Given the description of an element on the screen output the (x, y) to click on. 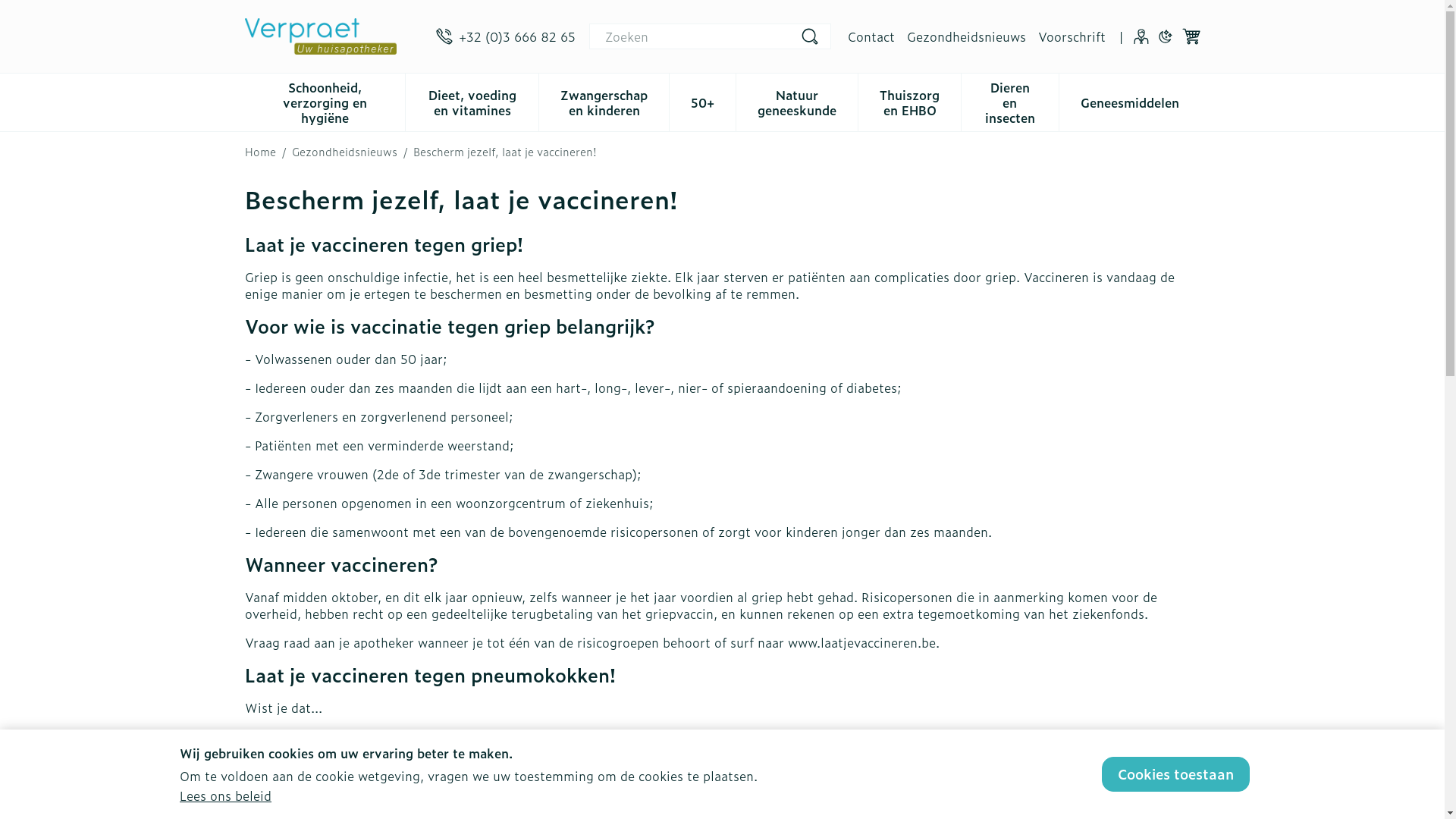
Donkere modus Element type: text (1164, 35)
Contact Element type: text (870, 36)
Natuur geneeskunde Element type: text (796, 100)
Winkelwagen Element type: text (1190, 36)
Home Element type: text (259, 151)
Klant menu Element type: text (1140, 35)
Dieren en insecten Element type: text (1009, 100)
Gezondheidsnieuws Element type: text (343, 151)
Zwangerschap en kinderen Element type: text (603, 100)
+32 (0)3 666 82 65 Element type: text (504, 36)
Lees ons beleid Element type: text (225, 795)
Apotheek Verpraet Element type: hover (319, 35)
50+ Element type: text (702, 100)
Thuiszorg en EHBO Element type: text (909, 100)
Apotheek Verpraet Element type: hover (333, 36)
Cookies toestaan Element type: text (1175, 773)
Dieet, voeding en vitamines Element type: text (471, 100)
Geneesmiddelen Element type: text (1128, 100)
Zoeken Element type: text (809, 36)
Voorschrift Element type: text (1070, 36)
Gezondheidsnieuws Element type: text (966, 36)
